Given the description of an element on the screen output the (x, y) to click on. 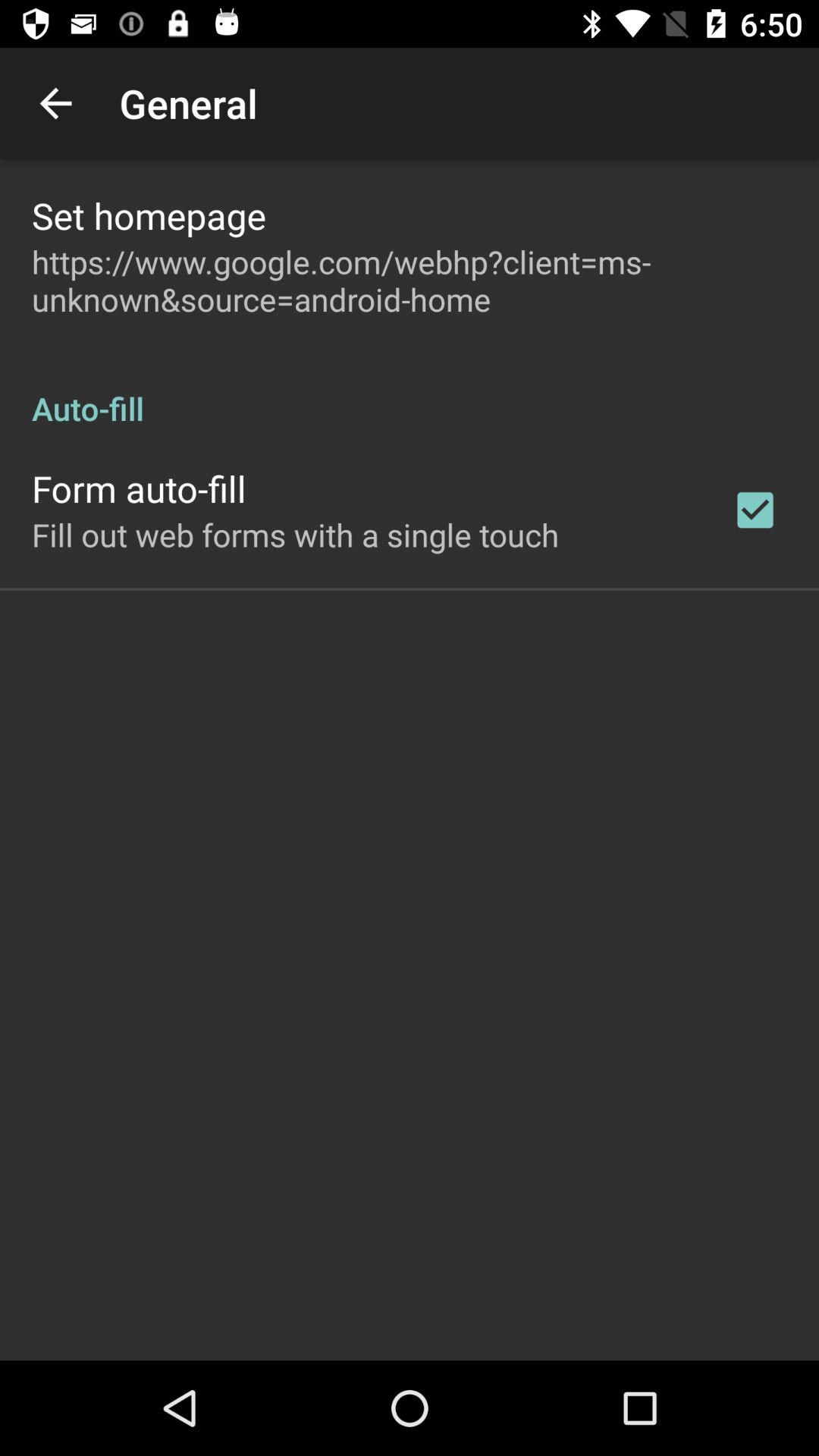
tap the https www google item (409, 280)
